Given the description of an element on the screen output the (x, y) to click on. 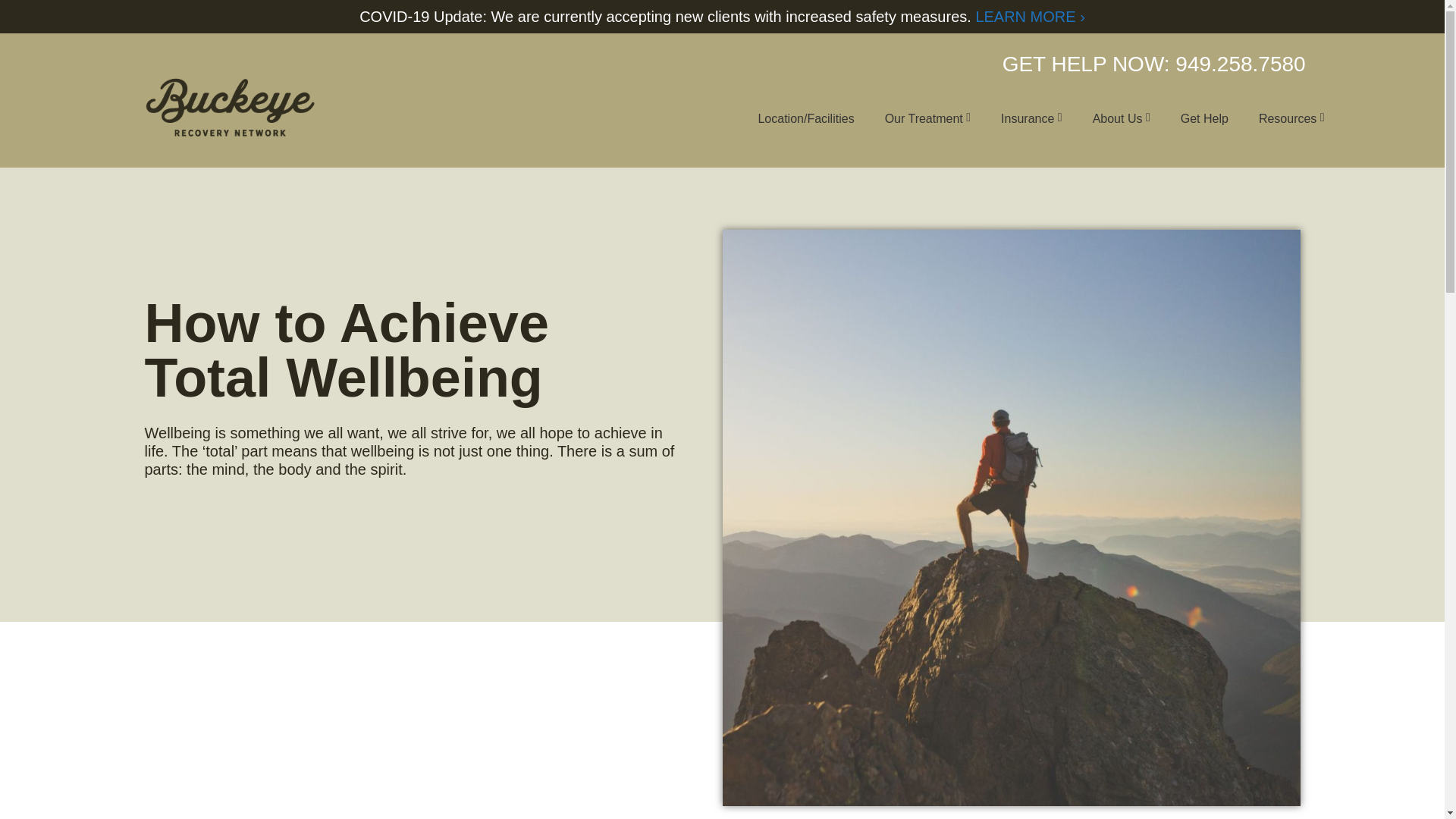
Our Treatment (927, 118)
About Us (1121, 118)
Resources (1291, 118)
Get Help (1204, 118)
GET HELP NOW: 949.258.7580 (1154, 64)
Insurance (1031, 118)
